Given the description of an element on the screen output the (x, y) to click on. 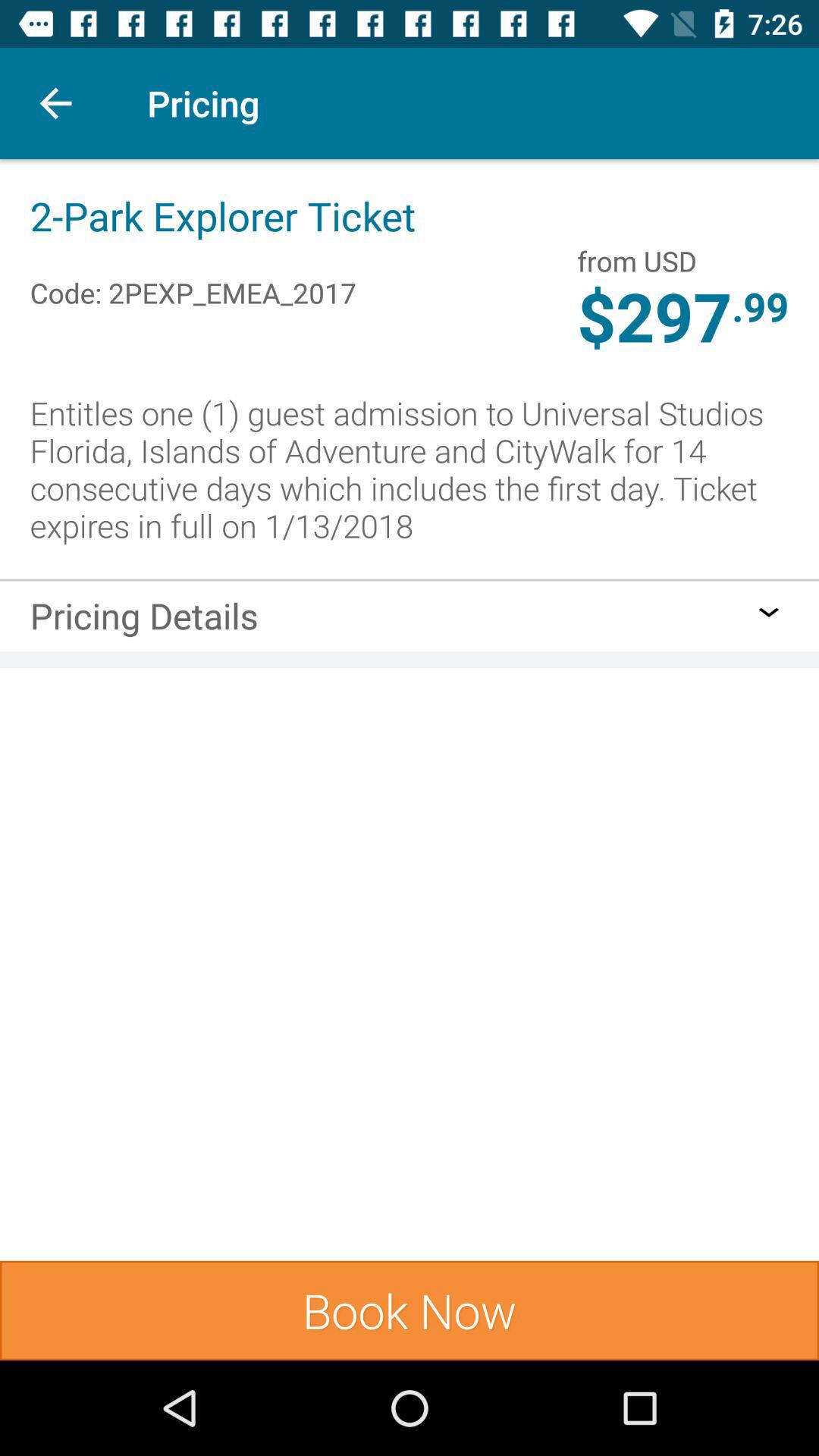
open details (768, 612)
